Given the description of an element on the screen output the (x, y) to click on. 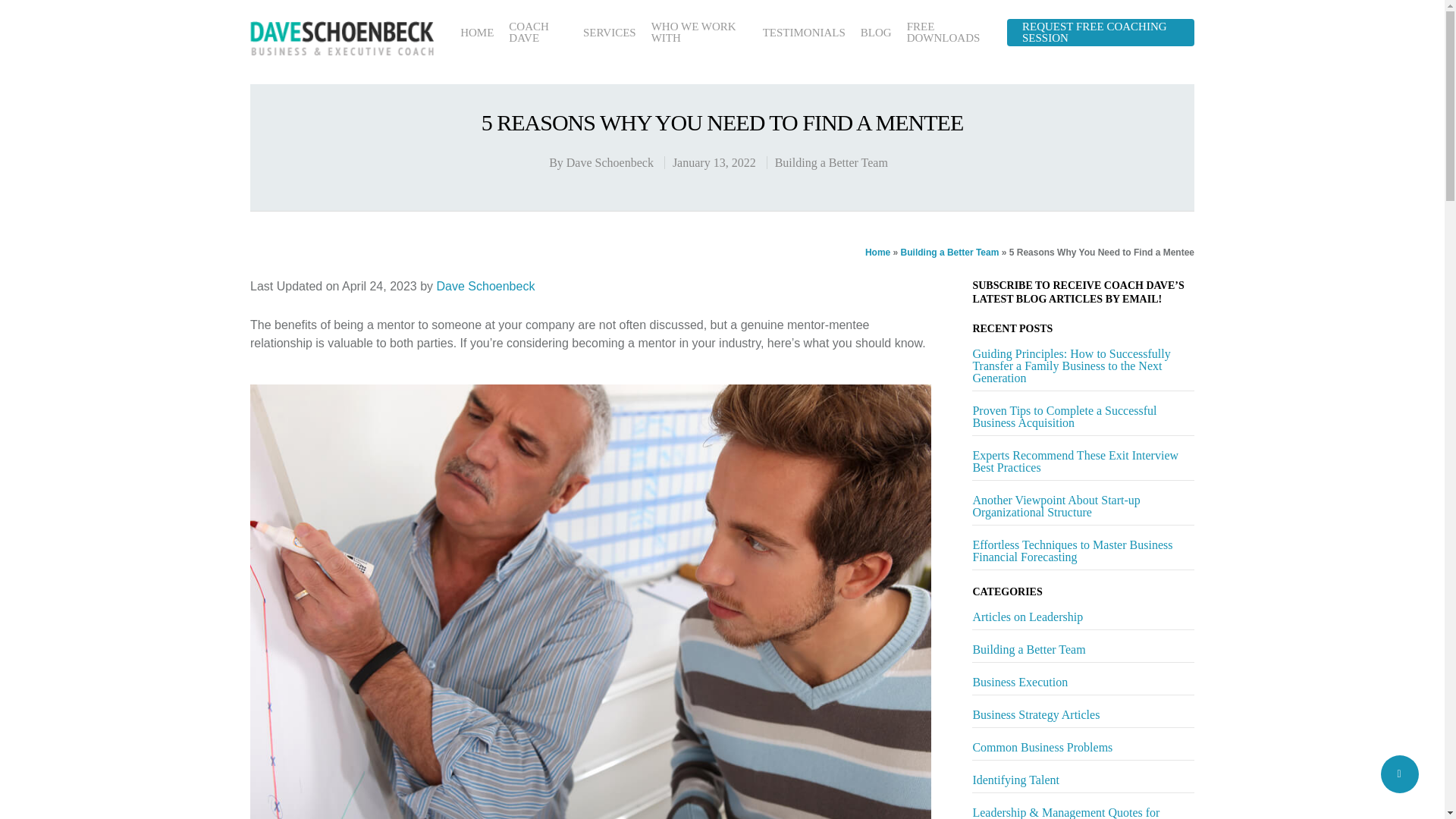
Building a Better Team (831, 162)
Dave Schoenbeck (609, 162)
Dave Schoenbeck (485, 286)
COACH DAVE (537, 32)
HOME (476, 32)
Posts by Dave Schoenbeck (609, 162)
BLOG (875, 32)
SERVICES (609, 32)
WHO WE WORK WITH (699, 32)
Building a Better Team (949, 252)
TESTIMONIALS (803, 32)
REQUEST FREE COACHING SESSION (1100, 32)
Home (876, 252)
FREE DOWNLOADS (949, 32)
